Given the description of an element on the screen output the (x, y) to click on. 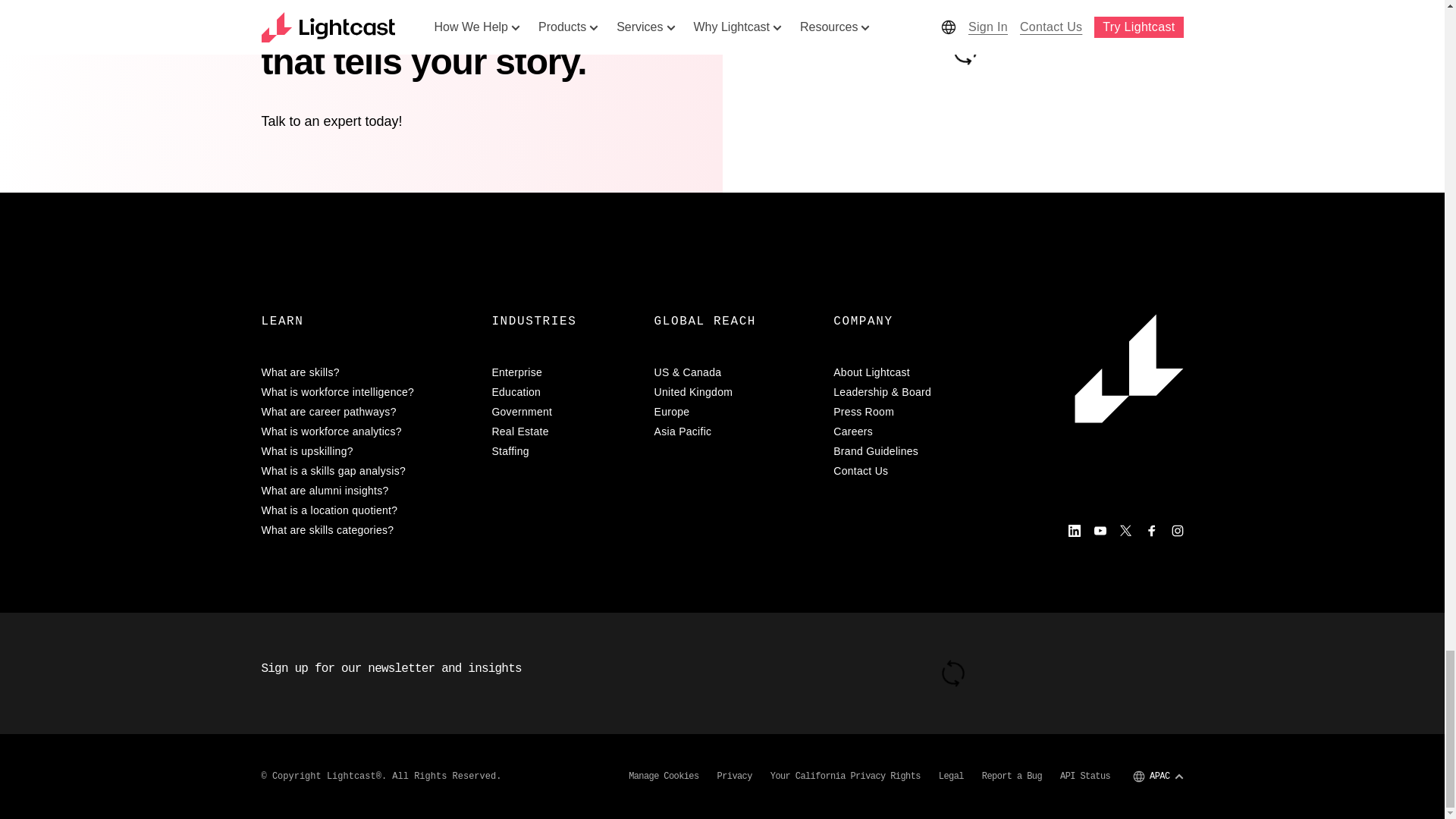
Education (563, 391)
What is a skills gap analysis? (366, 470)
Staffing (563, 450)
Careers (911, 431)
Real Estate (563, 431)
Europe (734, 411)
What are skills? (366, 372)
Contact Us (911, 470)
Enterprise (563, 372)
United Kingdom (734, 391)
